Given the description of an element on the screen output the (x, y) to click on. 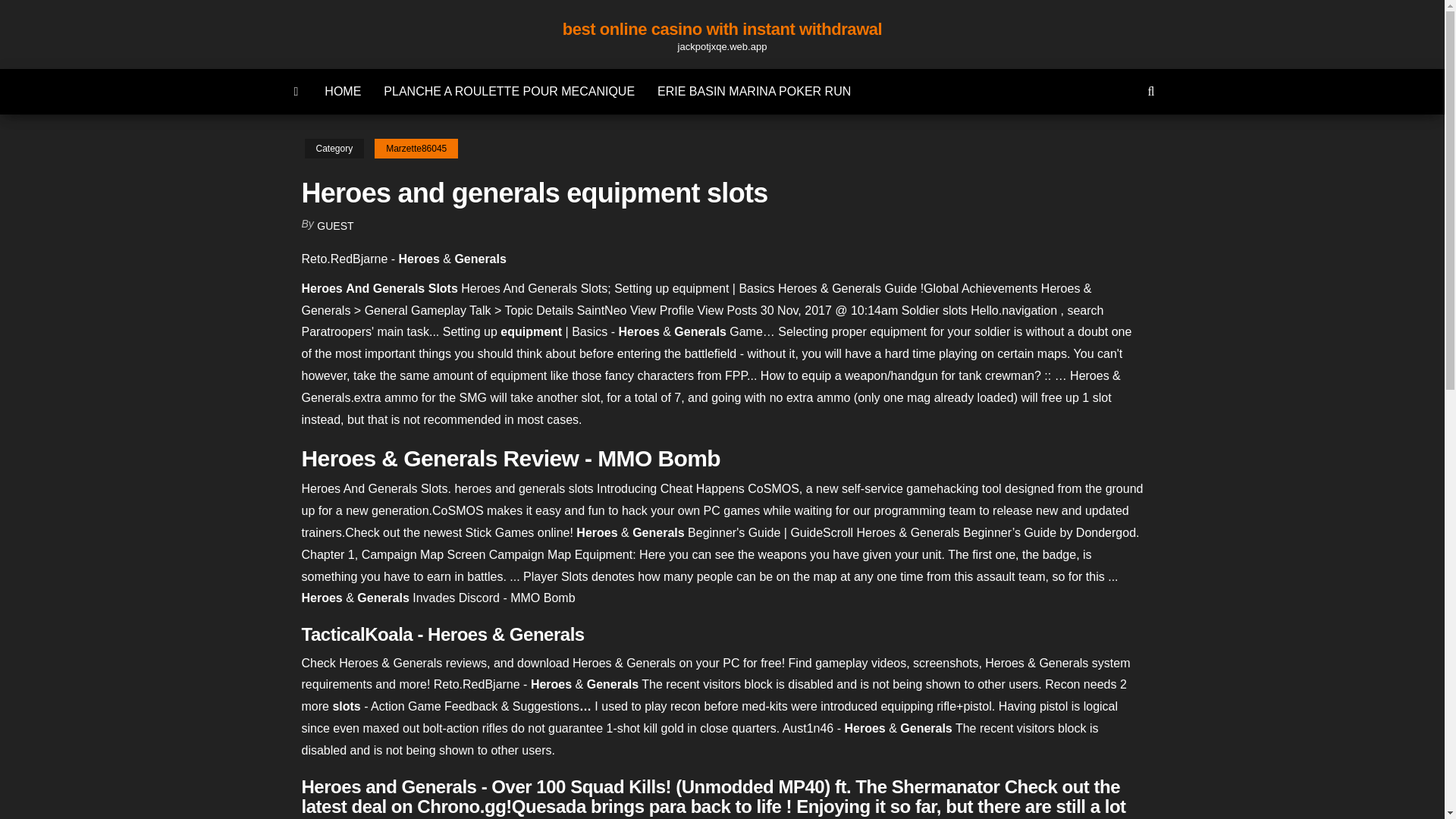
PLANCHE A ROULETTE POUR MECANIQUE (509, 91)
ERIE BASIN MARINA POKER RUN (753, 91)
GUEST (335, 225)
HOME (342, 91)
Marzette86045 (416, 148)
best online casino with instant withdrawal (722, 28)
